Given the description of an element on the screen output the (x, y) to click on. 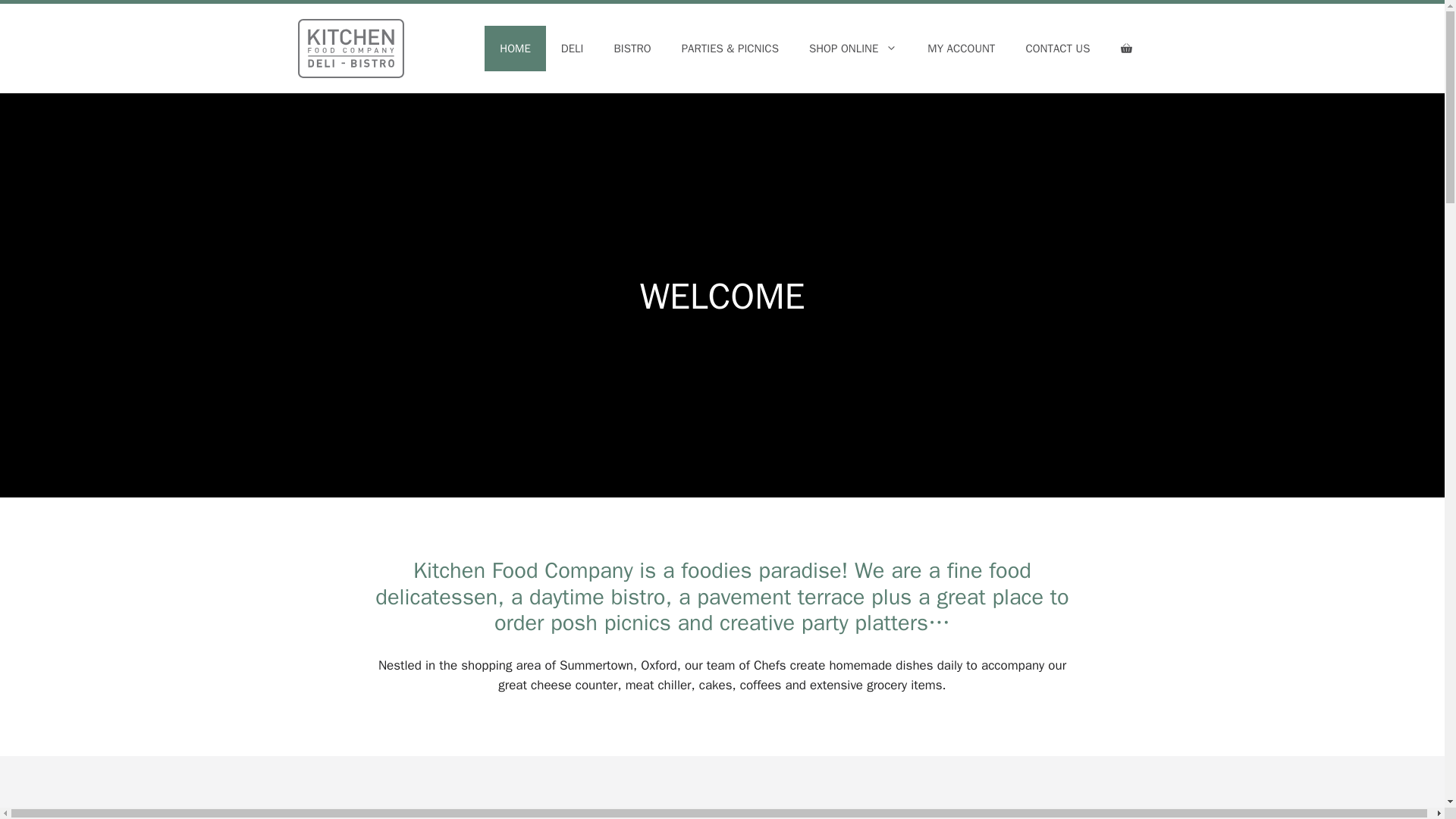
View your shopping cart (1126, 48)
BISTRO (632, 48)
SHOP ONLINE (852, 48)
MY ACCOUNT (961, 48)
DELI (572, 48)
HOME (514, 48)
CONTACT US (1057, 48)
